Given the description of an element on the screen output the (x, y) to click on. 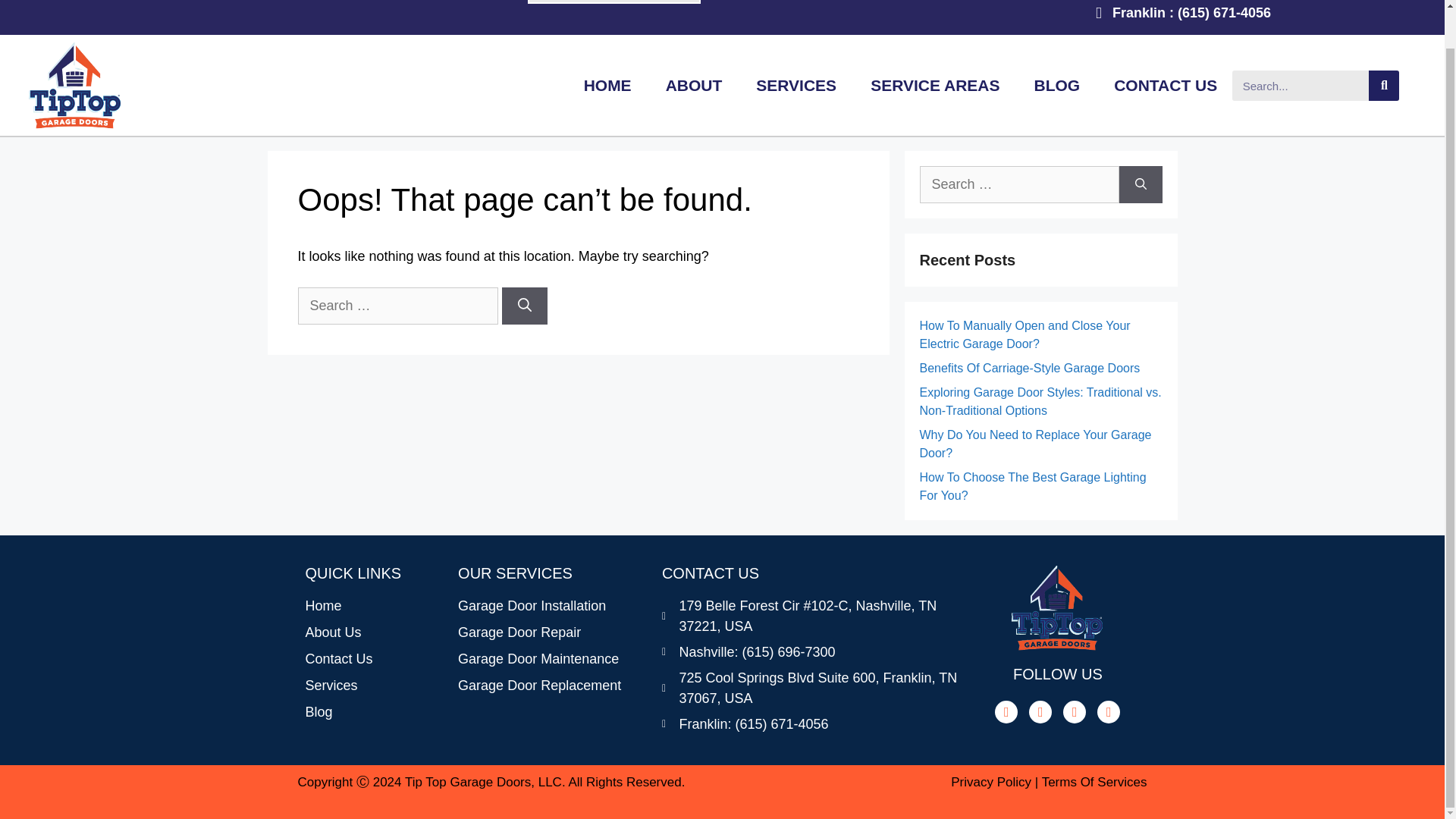
Why Do You Need to Replace Your Garage Door? (1034, 443)
Home (373, 606)
Search for: (1018, 184)
Benefits Of Carriage-Style Garage Doors (1029, 367)
Search for: (397, 305)
SERVICE AREAS (935, 85)
About Us (373, 632)
GET A FREE QUOTE (613, 2)
CONTACT US (1165, 85)
